Given the description of an element on the screen output the (x, y) to click on. 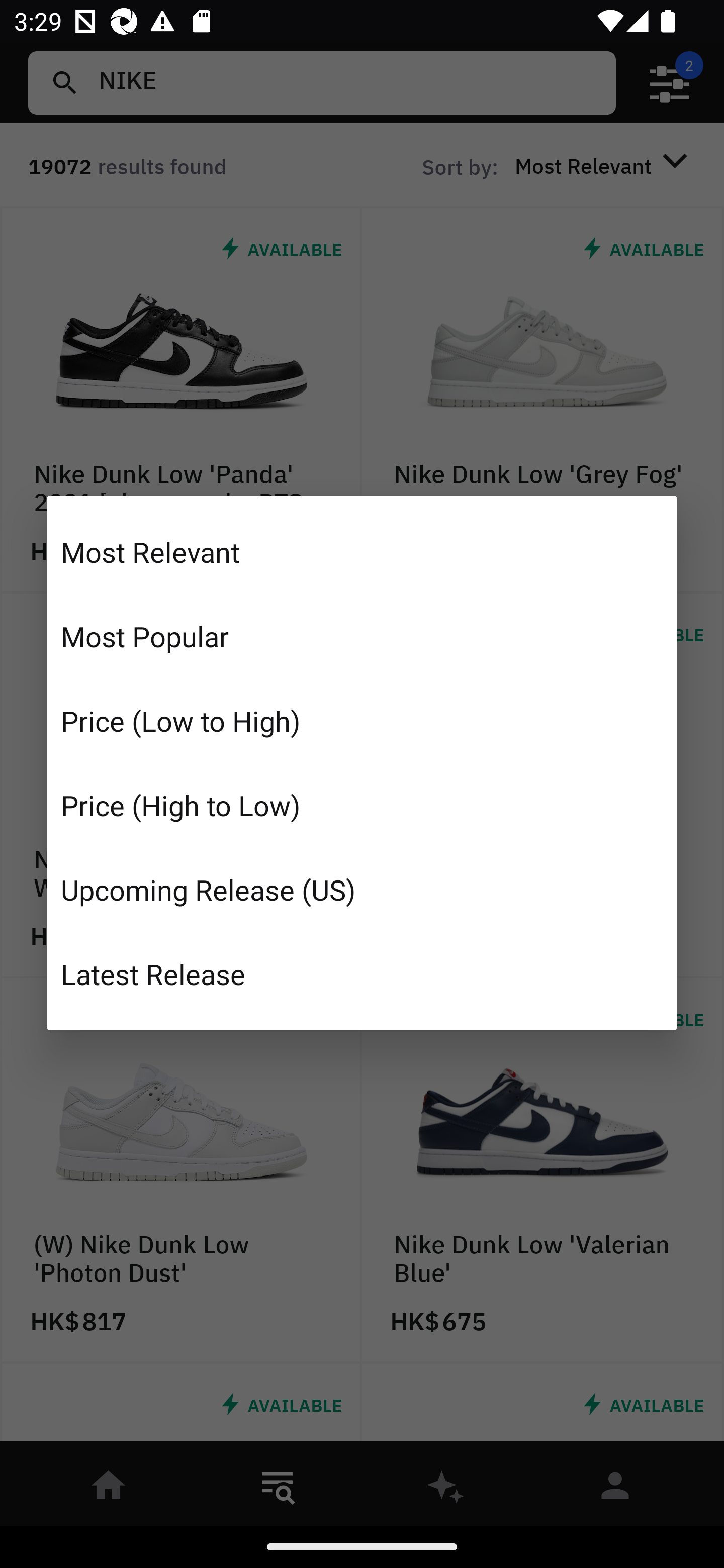
Most Relevant (361, 551)
Most Popular (361, 636)
Price (Low to High) (361, 720)
Price (High to Low) (361, 804)
Upcoming Release (US) (361, 888)
Latest Release (361, 973)
